Given the description of an element on the screen output the (x, y) to click on. 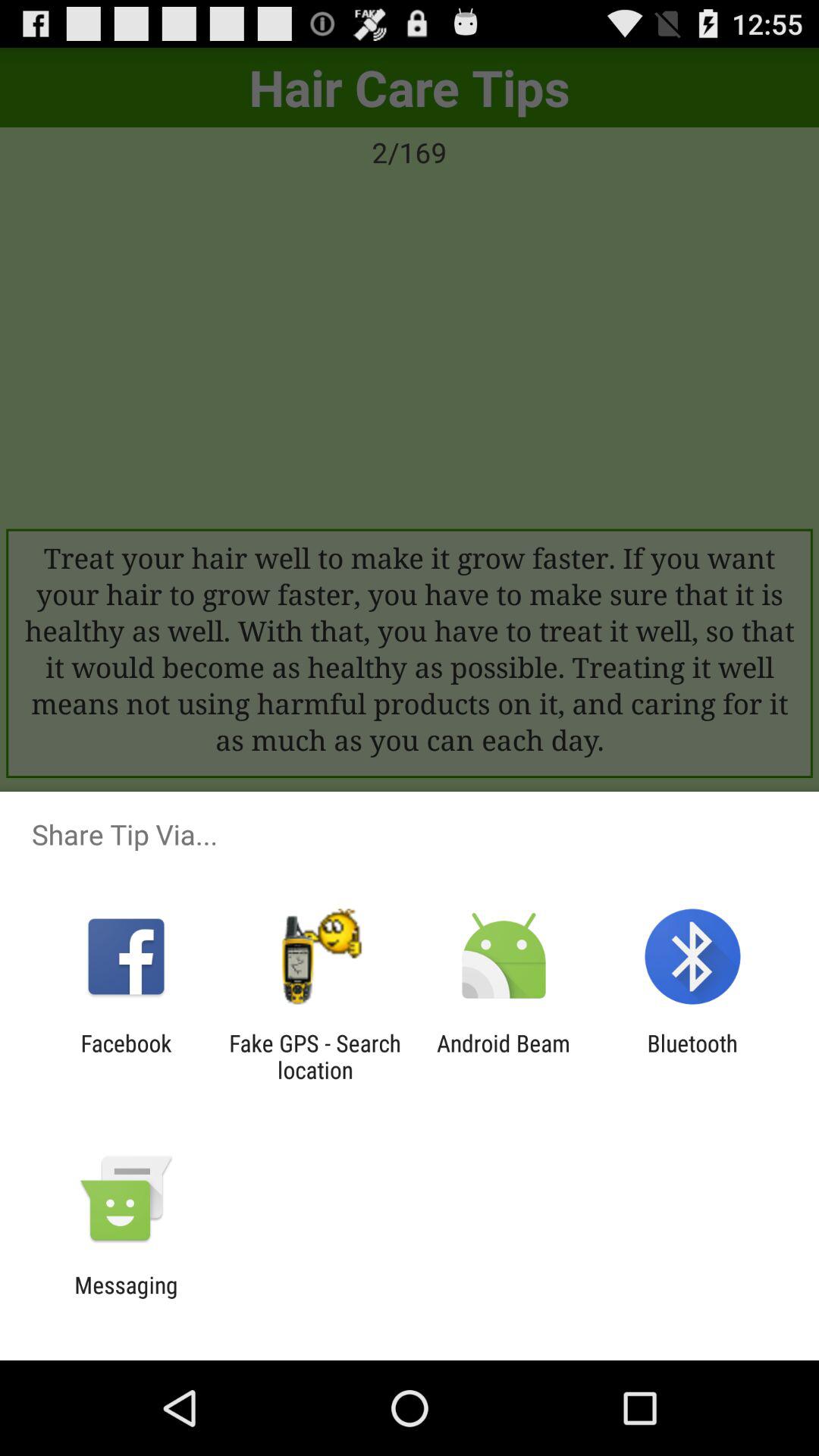
press the bluetooth at the bottom right corner (692, 1056)
